Given the description of an element on the screen output the (x, y) to click on. 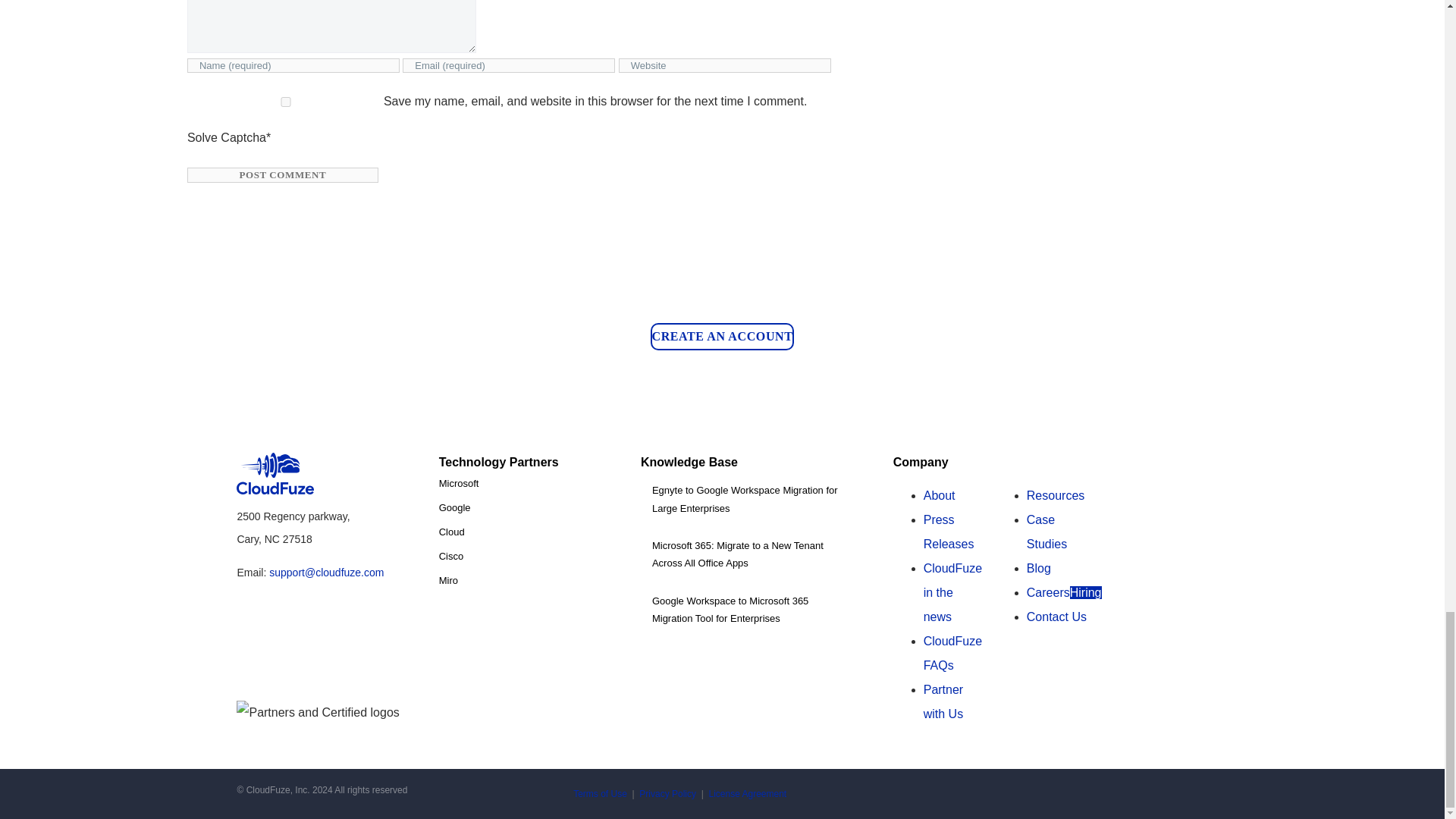
yes (285, 102)
Post Comment (282, 174)
